Given the description of an element on the screen output the (x, y) to click on. 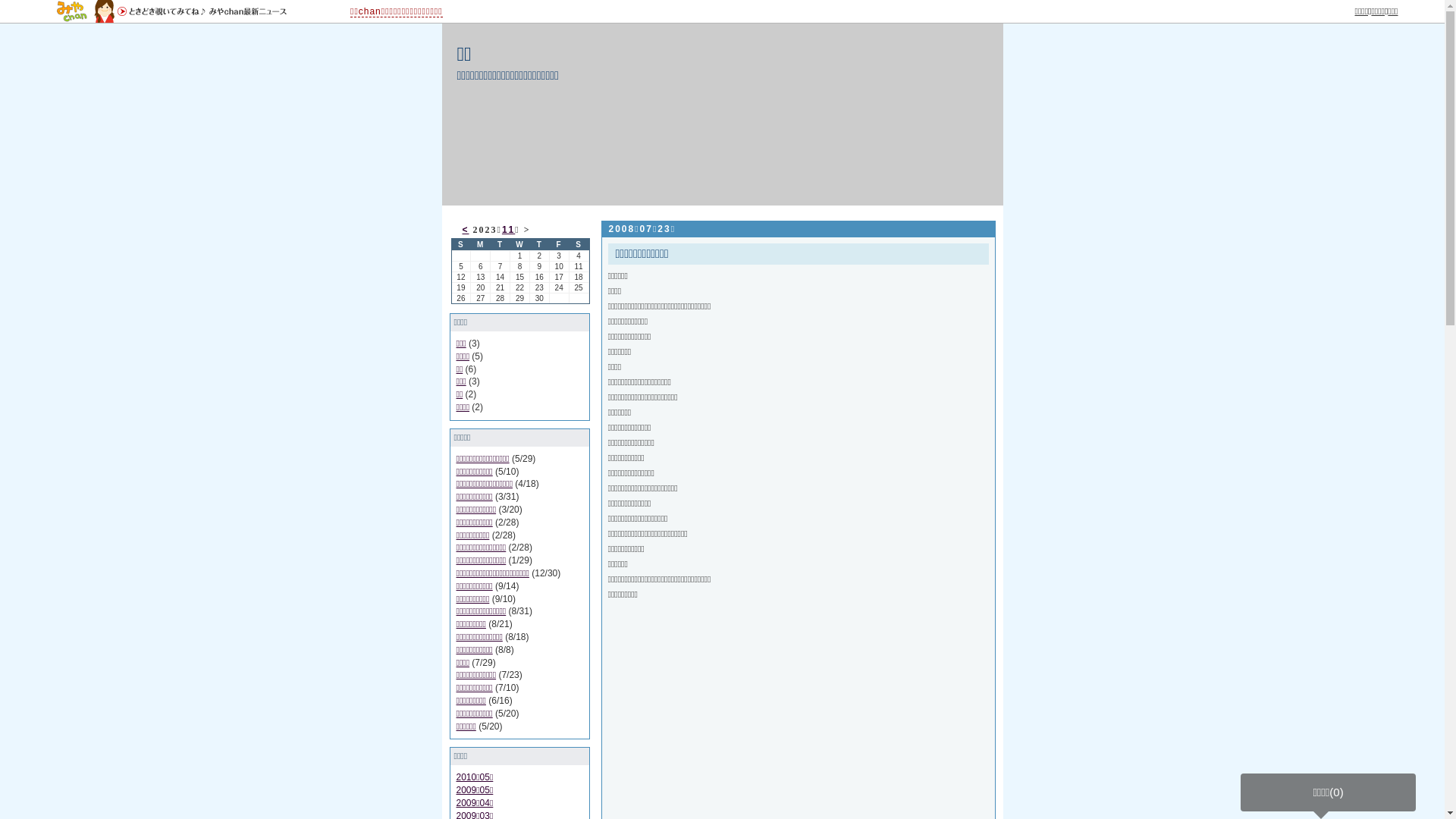
< Element type: text (465, 229)
11 Element type: text (508, 229)
